Given the description of an element on the screen output the (x, y) to click on. 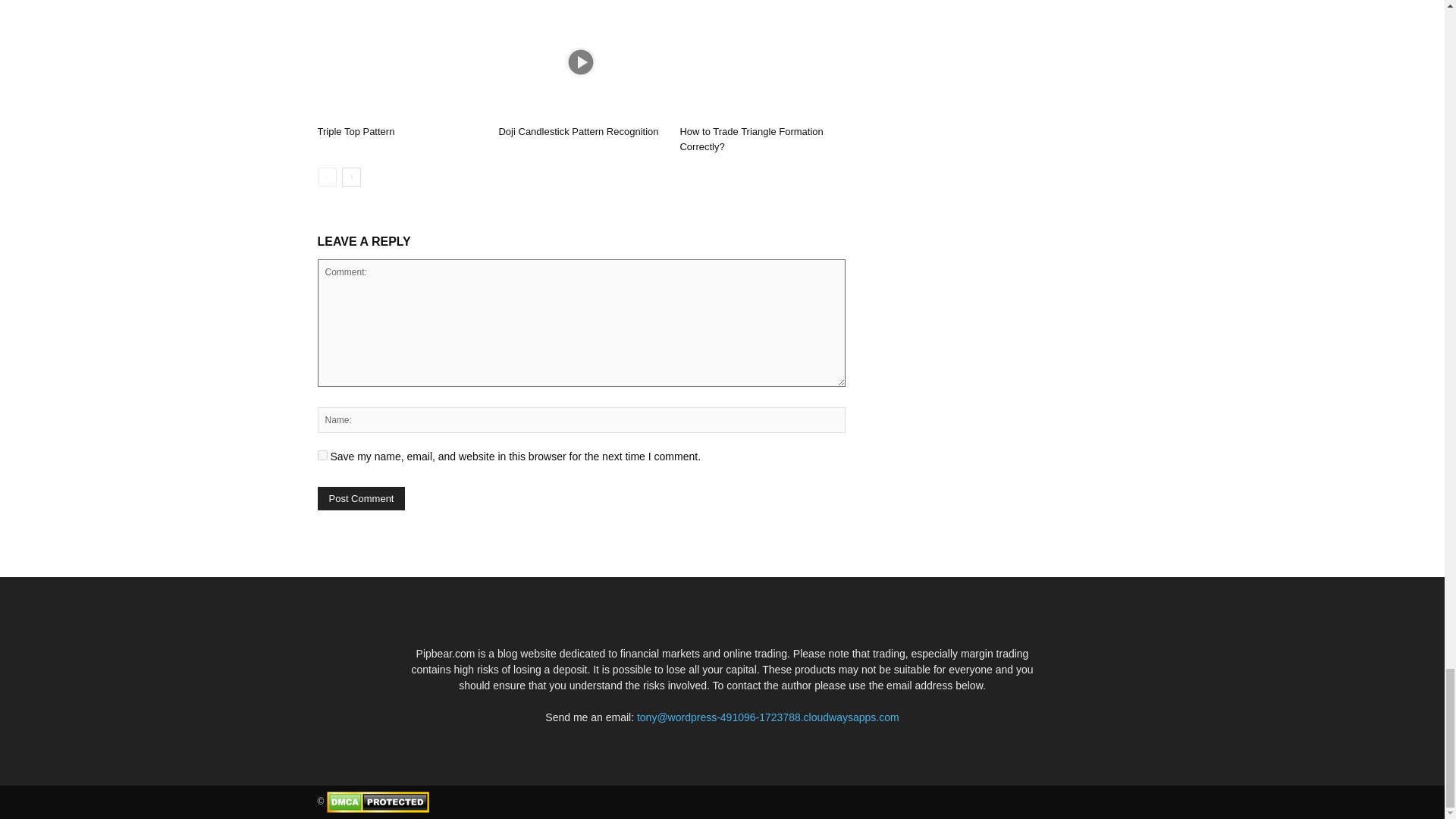
Triple Top Pattern (355, 131)
yes (321, 455)
Doji Candlestick Pattern Recognition (577, 131)
Triple Top Pattern (355, 131)
Post Comment (360, 498)
How to Trade Triangle Formation Correctly? (750, 139)
DMCA.com Protection Status (377, 801)
Post Comment (360, 498)
How to Trade Triangle Formation Correctly? (761, 61)
Doji Candlestick Pattern Recognition (580, 61)
How to Trade Triangle Formation Correctly? (750, 139)
Triple Top Pattern (399, 61)
Doji Candlestick Pattern Recognition (577, 131)
